Given the description of an element on the screen output the (x, y) to click on. 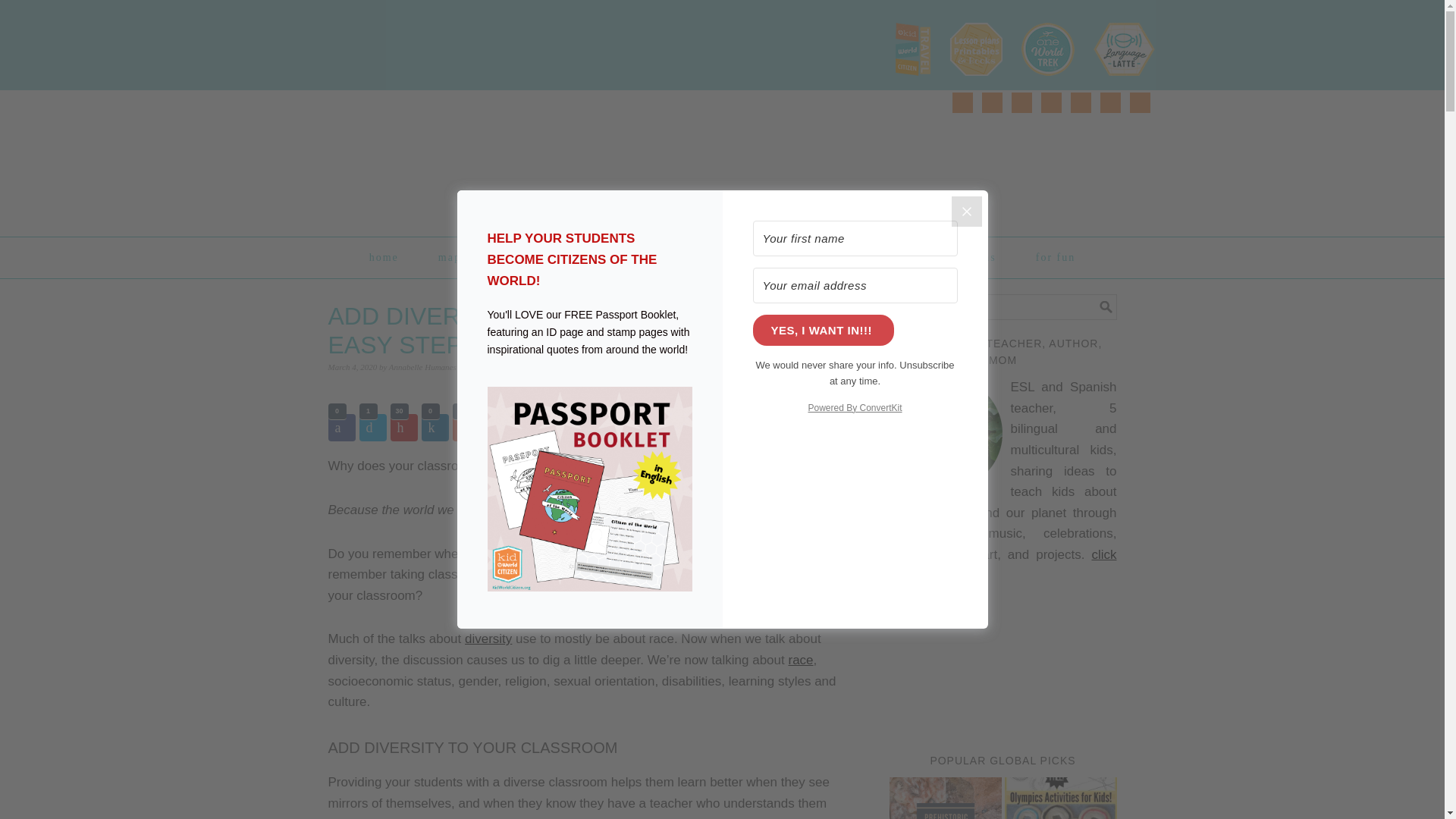
home (383, 256)
diversity (488, 638)
Annabelle Humanes (422, 366)
books (774, 256)
map search (469, 256)
KID WORLD CITIZEN (483, 156)
celebrations (960, 256)
for fun (1055, 256)
Leave a Comment (501, 366)
geography (569, 256)
food (706, 256)
race (799, 659)
languages (858, 256)
art (646, 256)
